Given the description of an element on the screen output the (x, y) to click on. 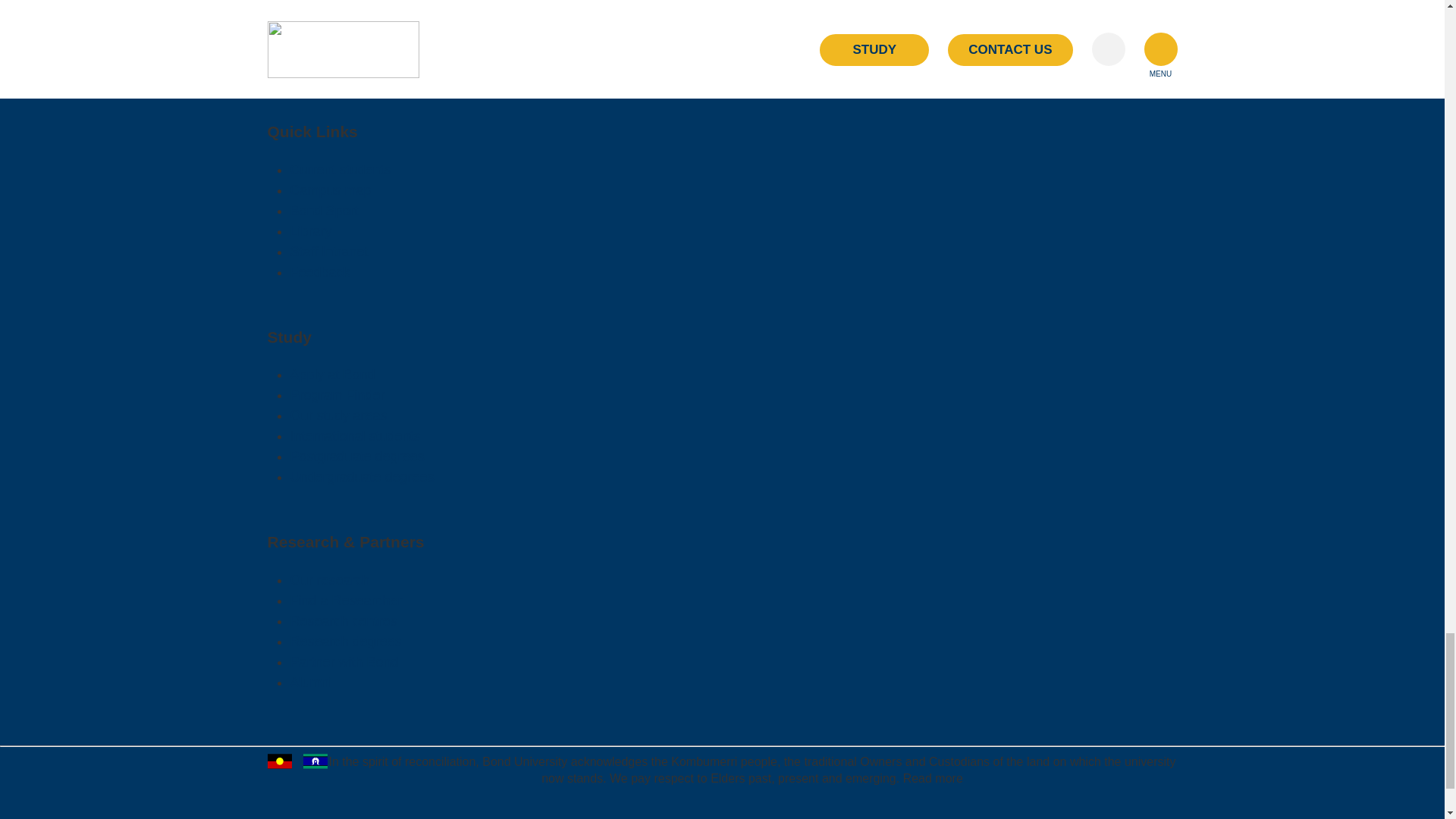
Disclaimer (321, 66)
Careers at Bond (338, 6)
Bond Sport (323, 210)
Staff Intranet (328, 251)
Careers at Bond (338, 6)
Current students (339, 169)
Privacy Policy (331, 46)
Media enquiries (337, 25)
Library (310, 231)
Campus map (330, 190)
